Given the description of an element on the screen output the (x, y) to click on. 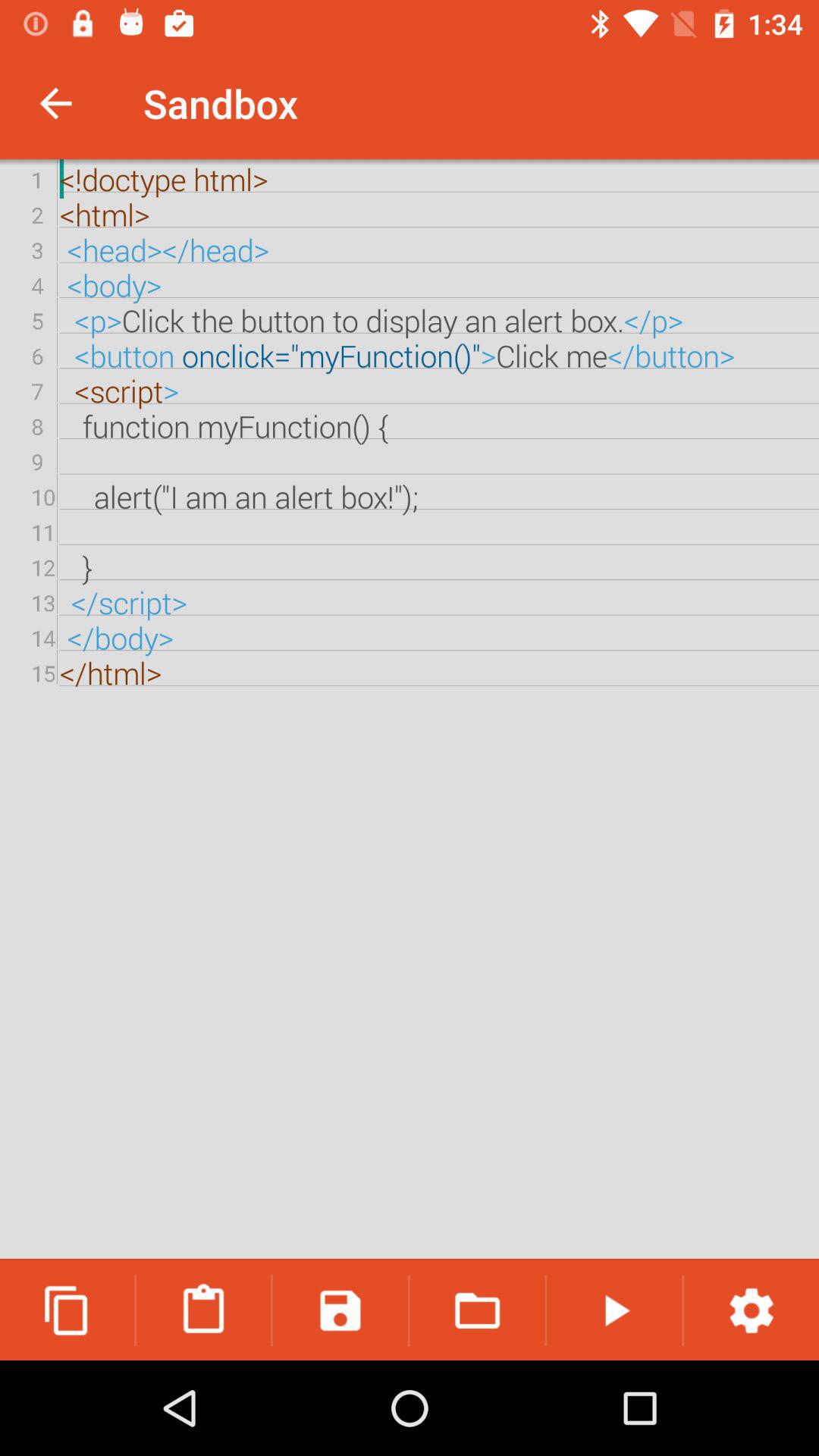
click the doctype html html icon (409, 709)
